Given the description of an element on the screen output the (x, y) to click on. 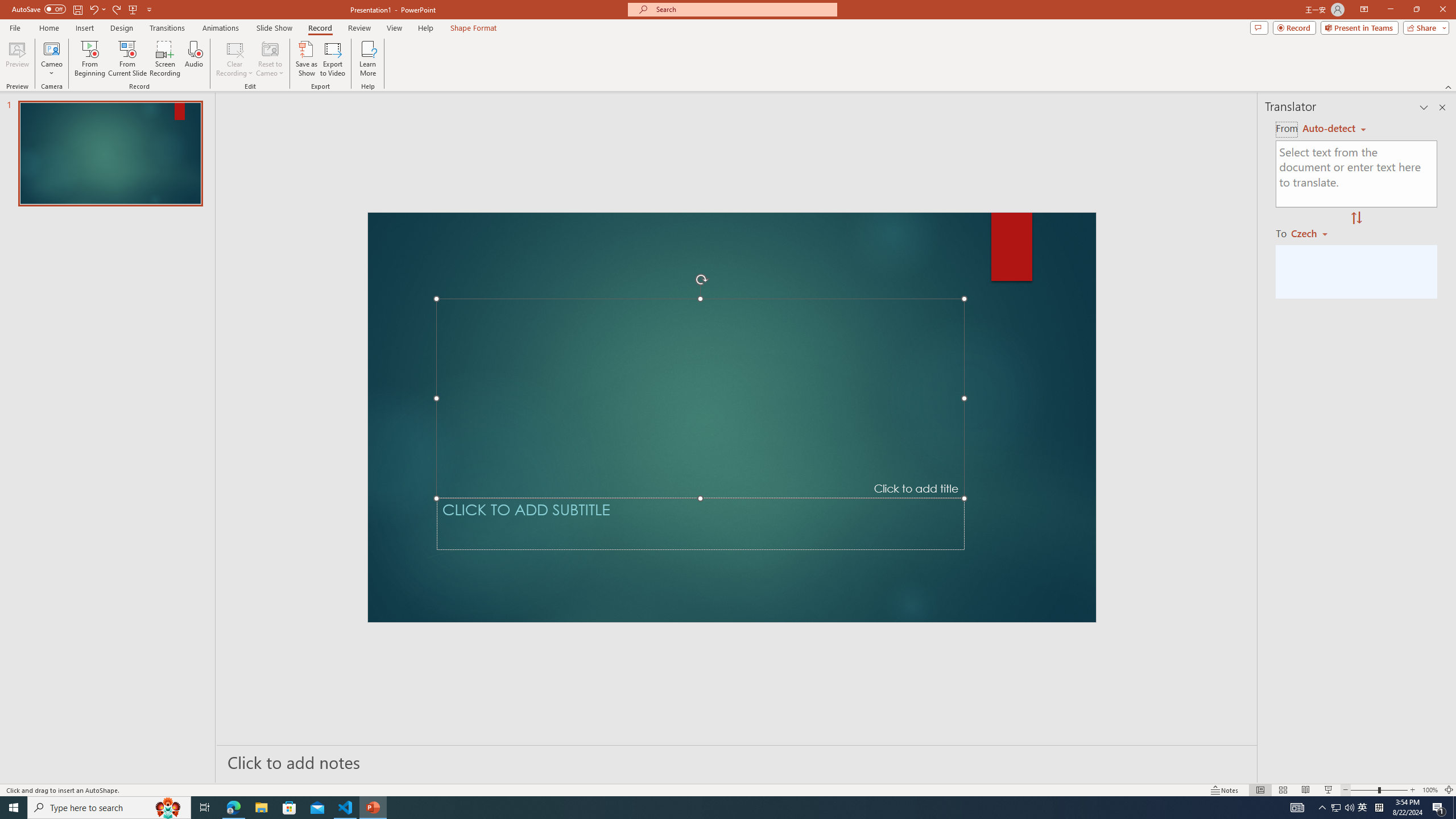
Title TextBox (699, 397)
Slide Sorter (1282, 790)
Auto-detect (1334, 128)
Collapse the Ribbon (1448, 86)
From Beginning (133, 9)
Zoom to Fit  (1449, 790)
Review (359, 28)
Learn More (368, 58)
Reading View (1305, 790)
Zoom In (1412, 790)
Home (48, 28)
